Given the description of an element on the screen output the (x, y) to click on. 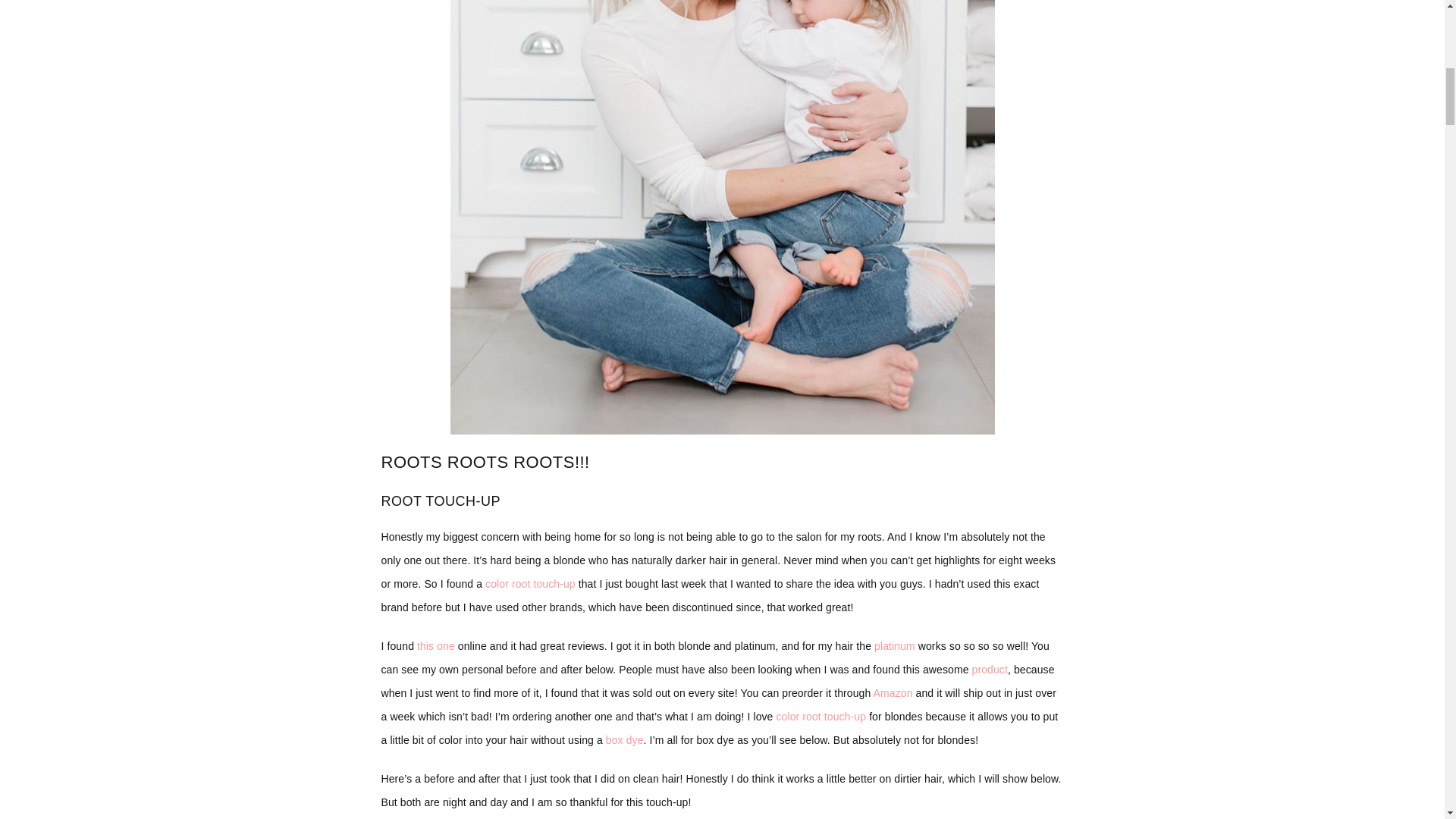
color root touch-up (821, 716)
this one (435, 645)
box dye (624, 739)
platinum (895, 645)
color root touch-up (531, 583)
product (989, 669)
Amazon (892, 693)
